Given the description of an element on the screen output the (x, y) to click on. 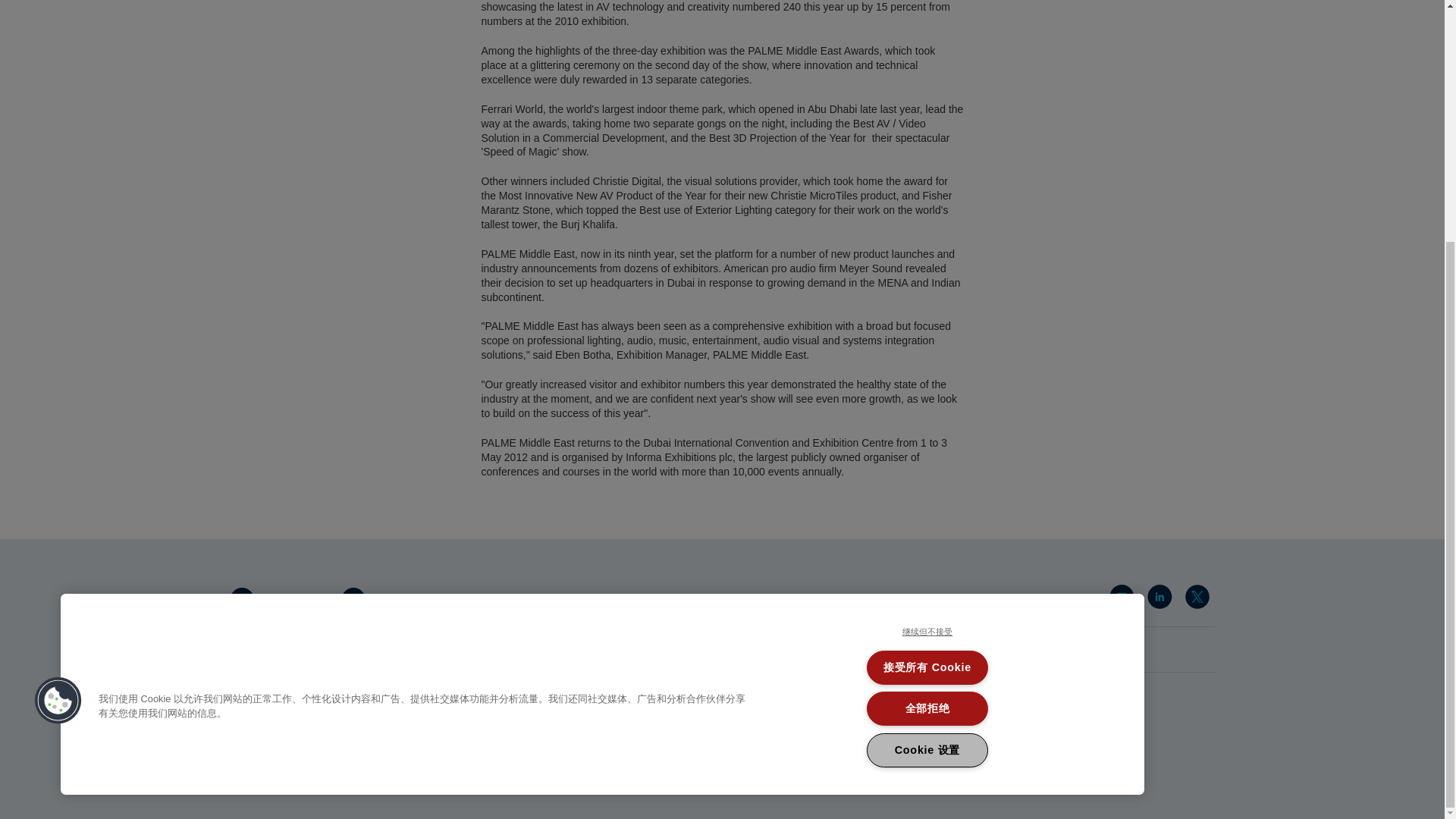
Cookies Button (57, 367)
Twitter (1199, 599)
LinkedIn (1161, 599)
Email Alerts (1123, 599)
